Given the description of an element on the screen output the (x, y) to click on. 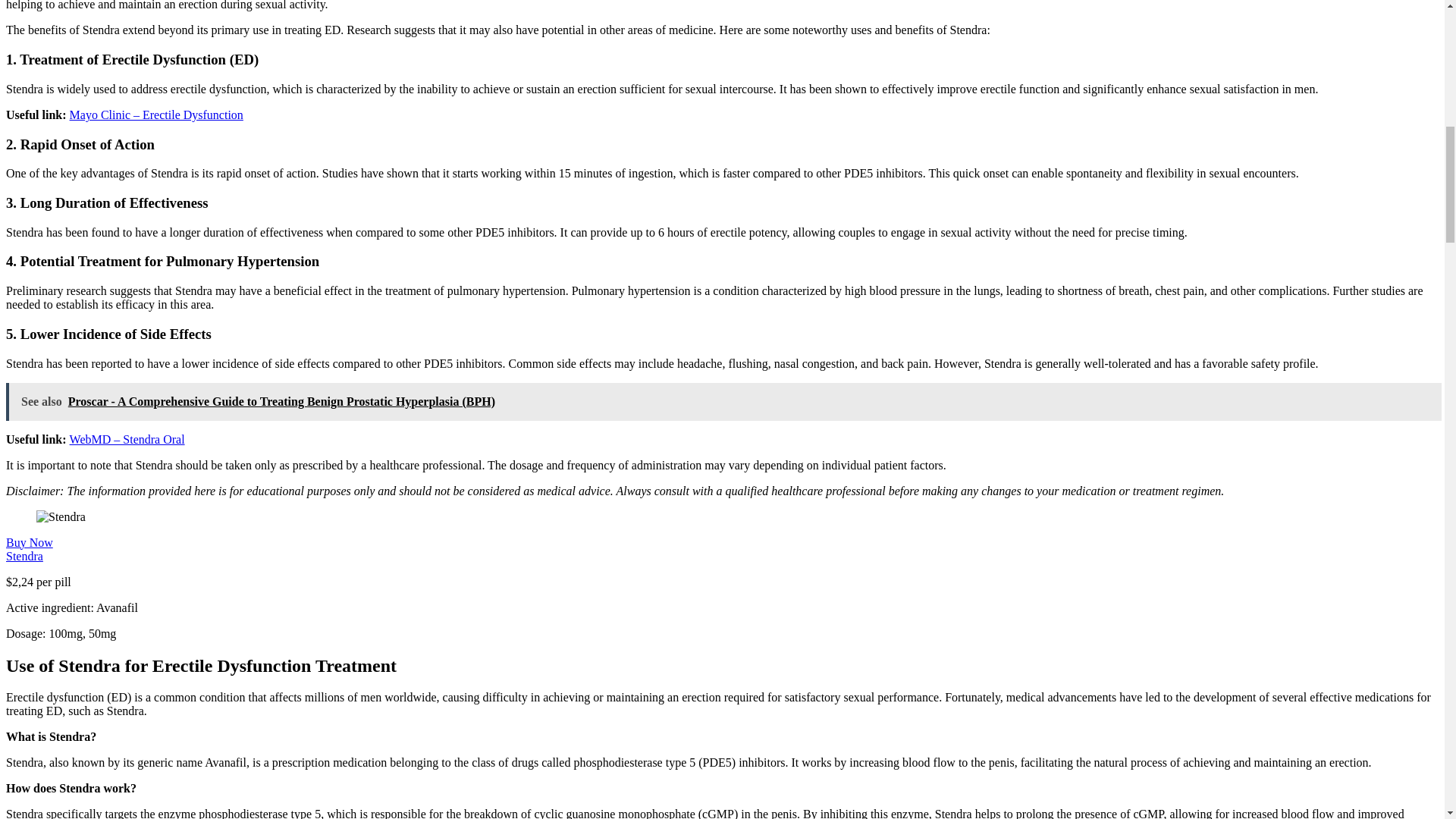
Stendra (24, 555)
Stendra (24, 555)
Buy Now (28, 542)
Buy Now (28, 542)
